Given the description of an element on the screen output the (x, y) to click on. 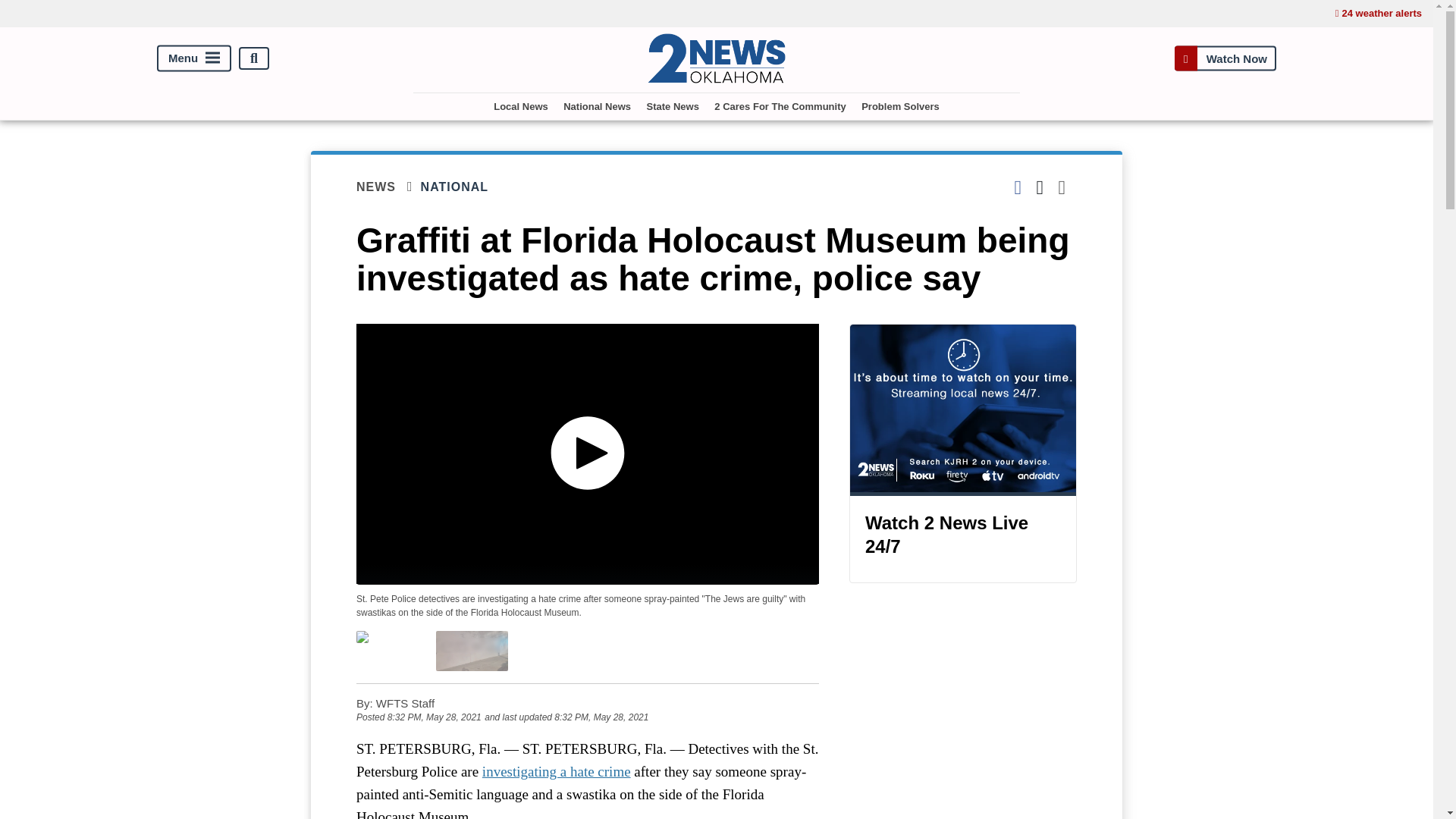
Menu (194, 58)
Watch Now (1224, 58)
